Given the description of an element on the screen output the (x, y) to click on. 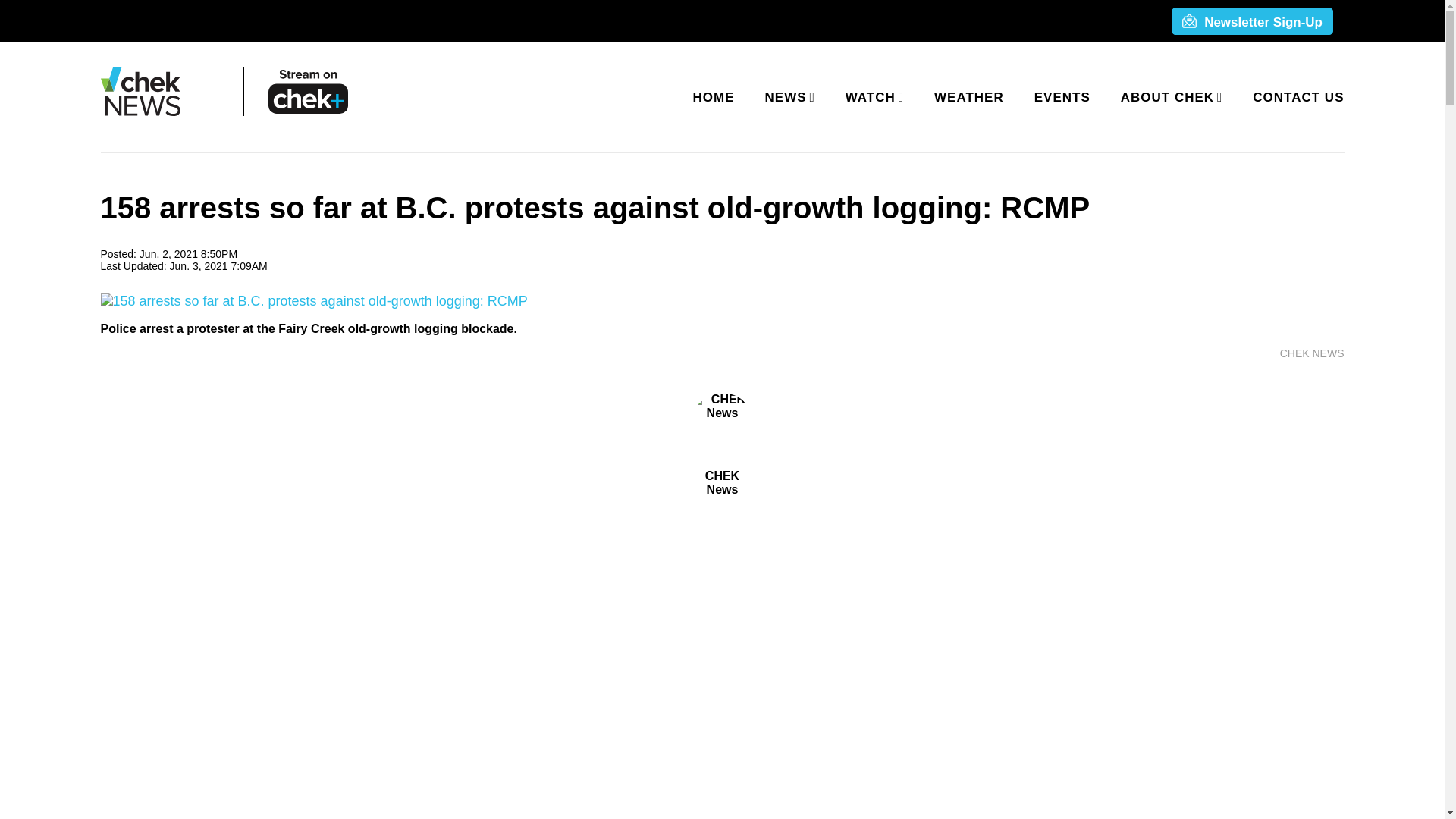
HOME (714, 96)
Newsletter Sign-Up (1251, 22)
NEWS (787, 96)
